Given the description of an element on the screen output the (x, y) to click on. 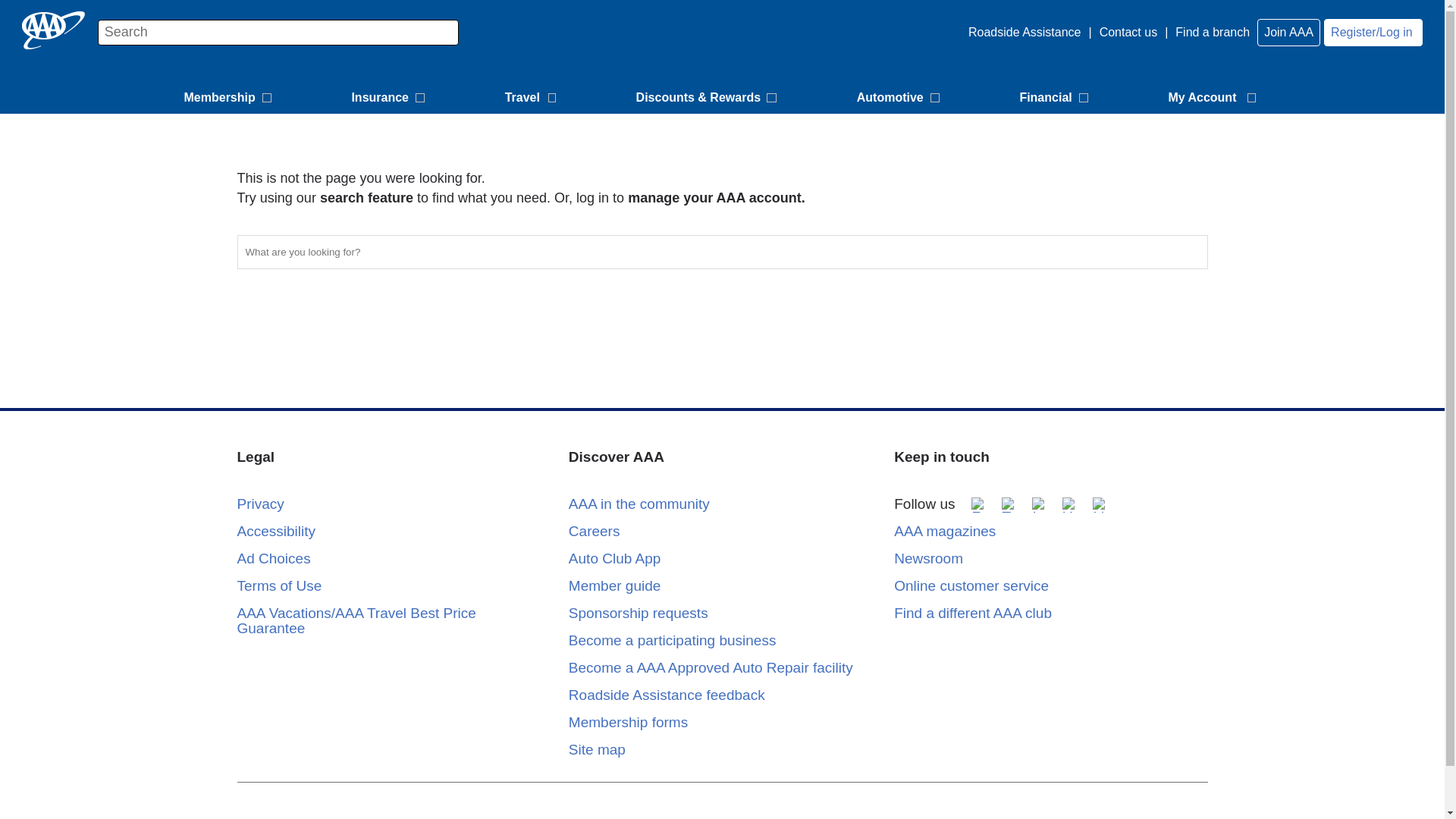
Facebook (979, 504)
Type search word (277, 32)
Instagram (1039, 504)
Automobile Club logo (52, 30)
Automotive (900, 98)
Search (1187, 250)
My Account (1214, 98)
Roadside Assistance (1022, 31)
Membership (229, 98)
Find a branch (1212, 31)
